Given the description of an element on the screen output the (x, y) to click on. 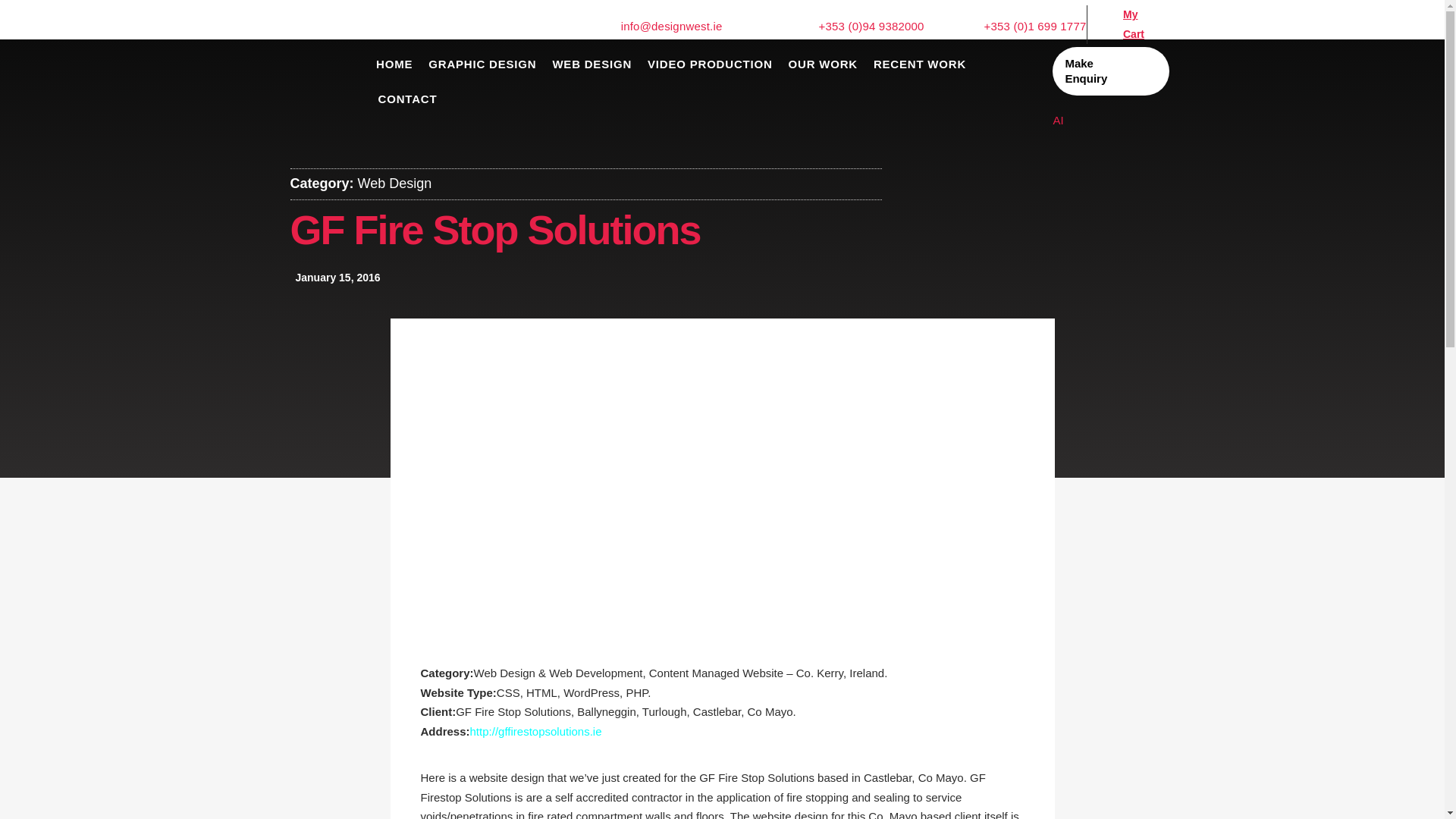
RECENT WORK (919, 63)
CONTACT (408, 99)
WEB DESIGN (591, 63)
VIDEO PRODUCTION (709, 63)
HOME (394, 63)
OUR WORK (823, 63)
My Cart (1131, 24)
designwest logo Large no text Designwest (295, 95)
GRAPHIC DESIGN (481, 63)
